Given the description of an element on the screen output the (x, y) to click on. 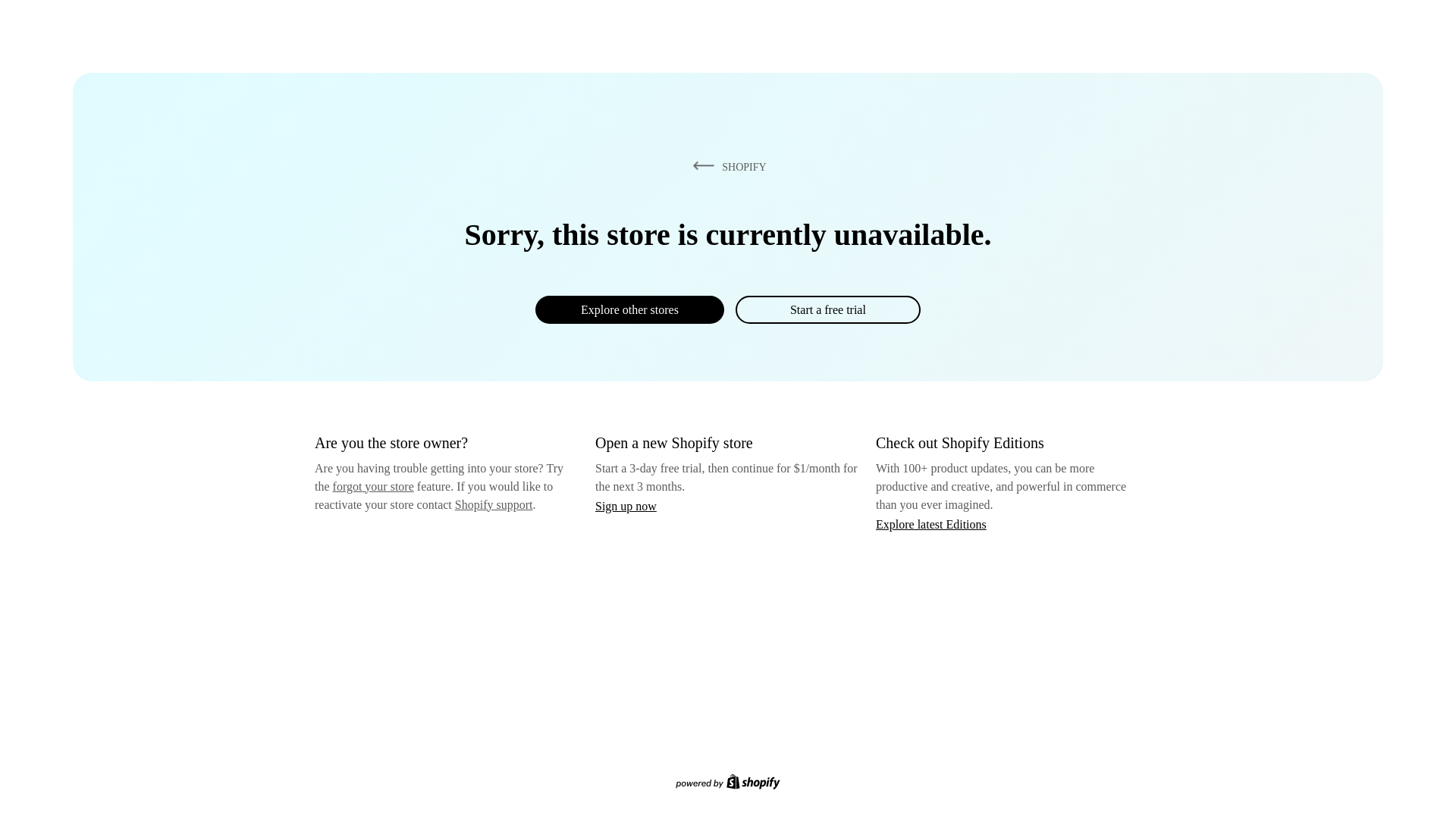
Explore latest Editions (931, 523)
SHOPIFY (726, 166)
forgot your store (373, 486)
Start a free trial (827, 309)
Sign up now (625, 505)
Explore other stores (629, 309)
Shopify support (493, 504)
